Given the description of an element on the screen output the (x, y) to click on. 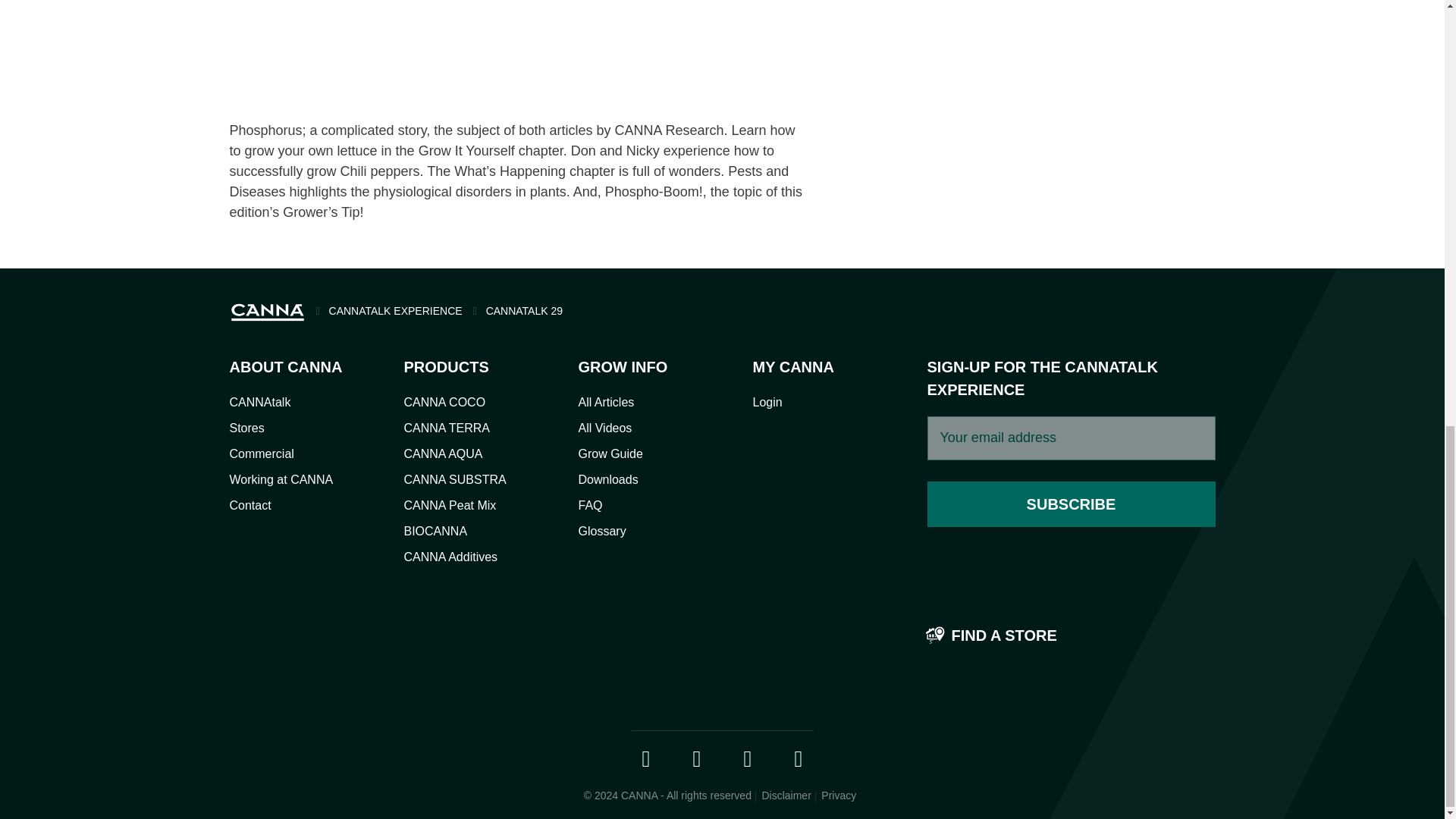
Contact (249, 504)
BIOCANNA (435, 530)
CANNAtalk (258, 401)
CANNA Additives (450, 556)
CANNA AQUA (442, 453)
CANNATALK EXPERIENCE (384, 310)
Commercial (261, 453)
Working at CANNA (280, 479)
Subscribe (1070, 504)
PRODUCTS (459, 366)
CANNA Peat Mix (449, 504)
CANNA COCO (443, 401)
CANNA TERRA (446, 427)
All Videos (604, 427)
CANNA SUBSTRA (454, 479)
